Given the description of an element on the screen output the (x, y) to click on. 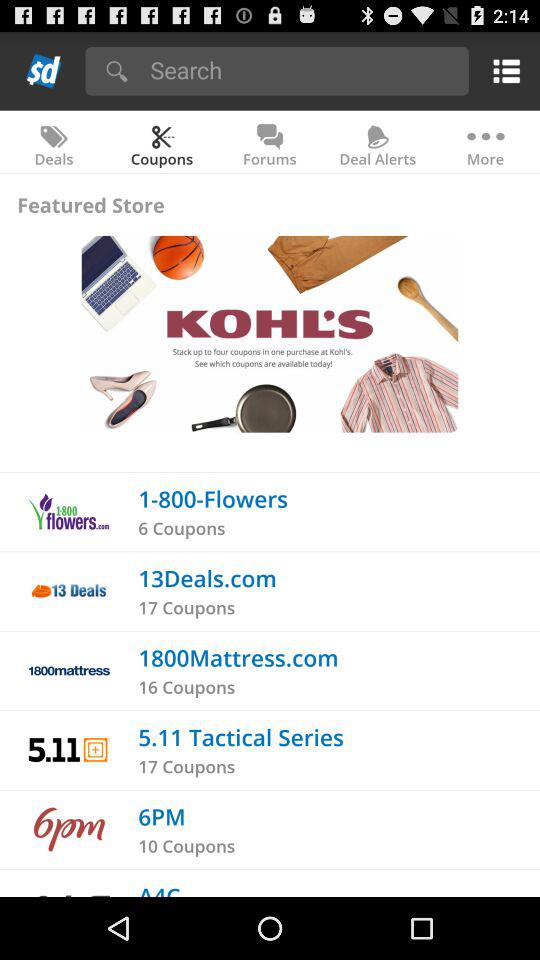
search app (302, 69)
